Given the description of an element on the screen output the (x, y) to click on. 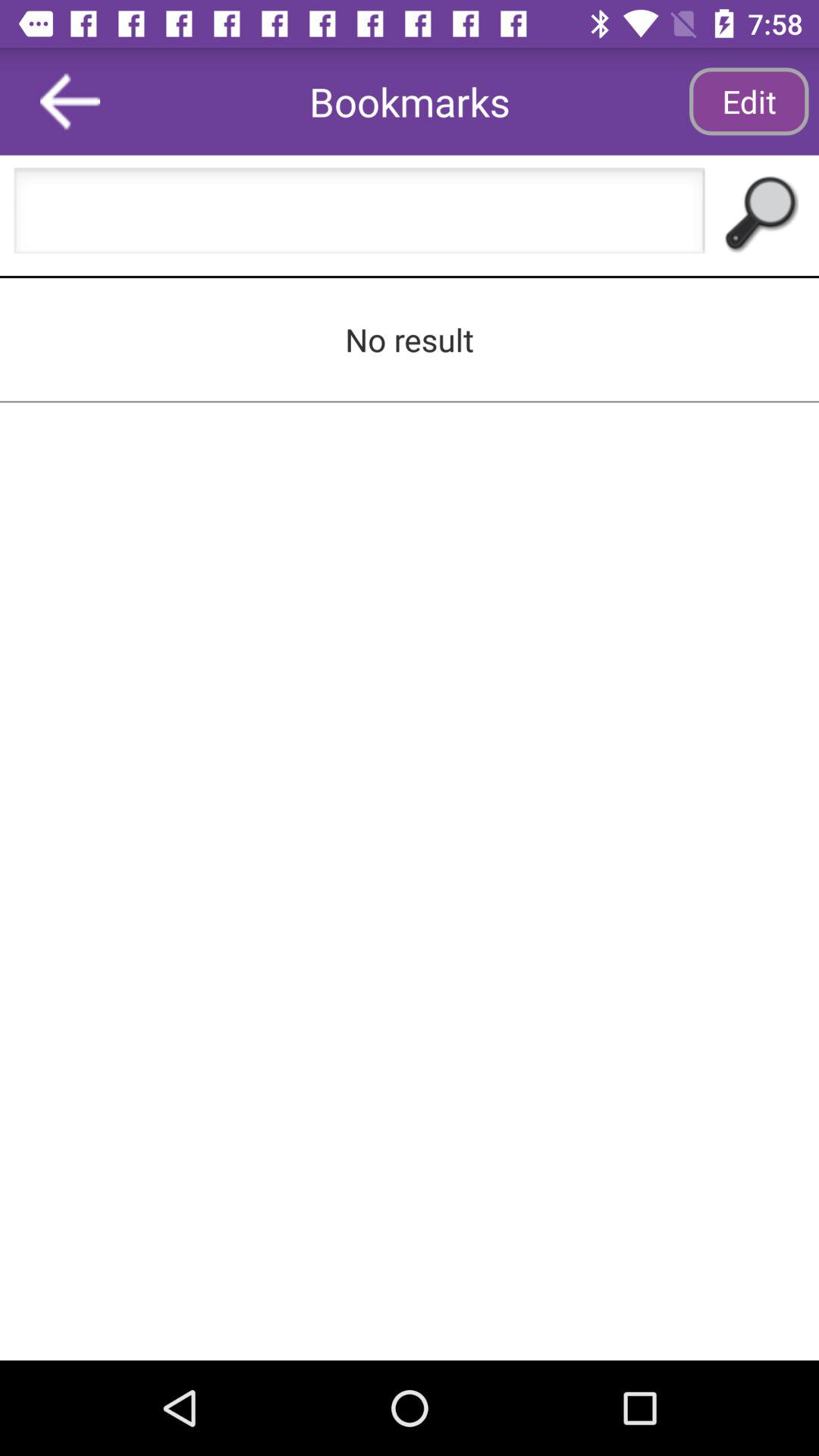
write search terms (359, 215)
